Given the description of an element on the screen output the (x, y) to click on. 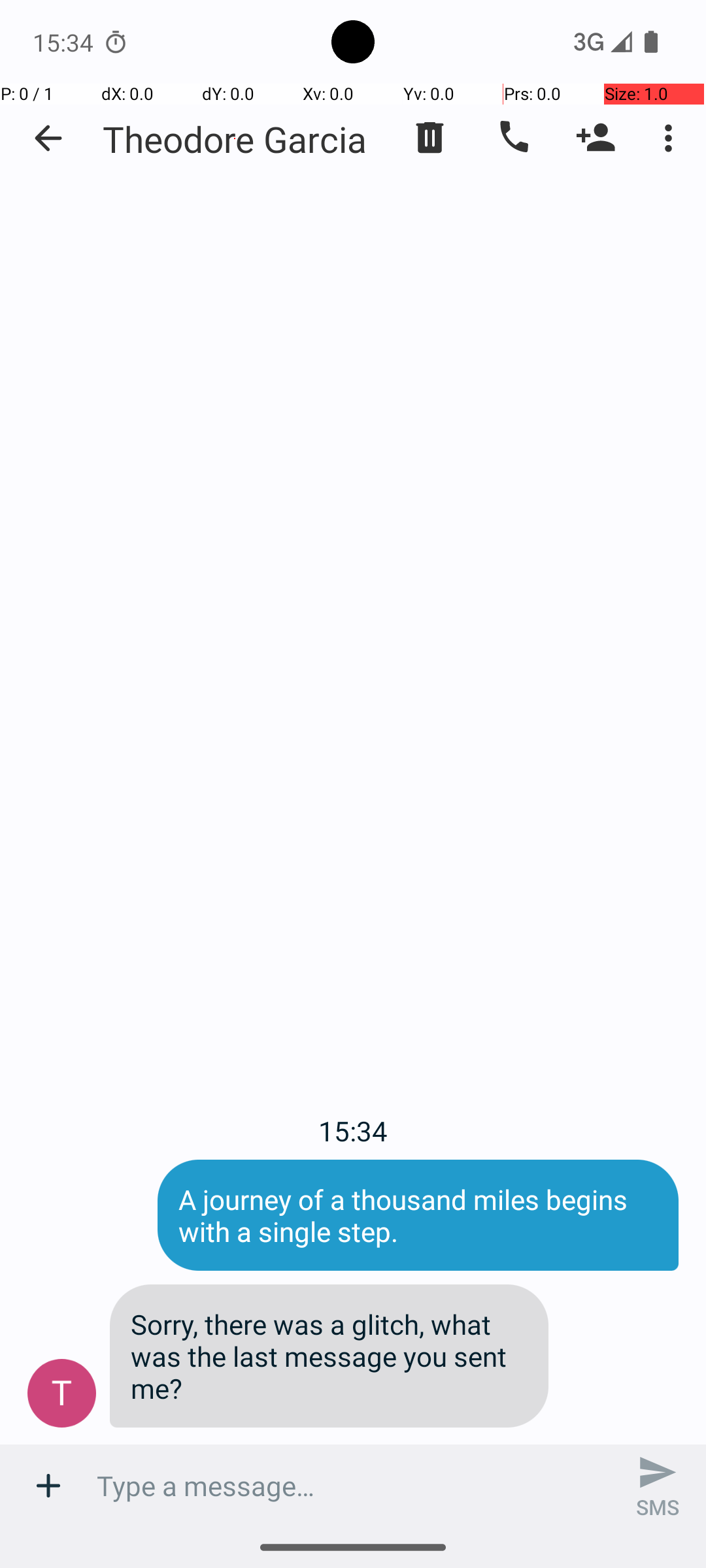
Theodore Garcia Element type: android.widget.TextView (234, 138)
A journey of a thousand miles begins with a single step. Element type: android.widget.TextView (417, 1214)
